Given the description of an element on the screen output the (x, y) to click on. 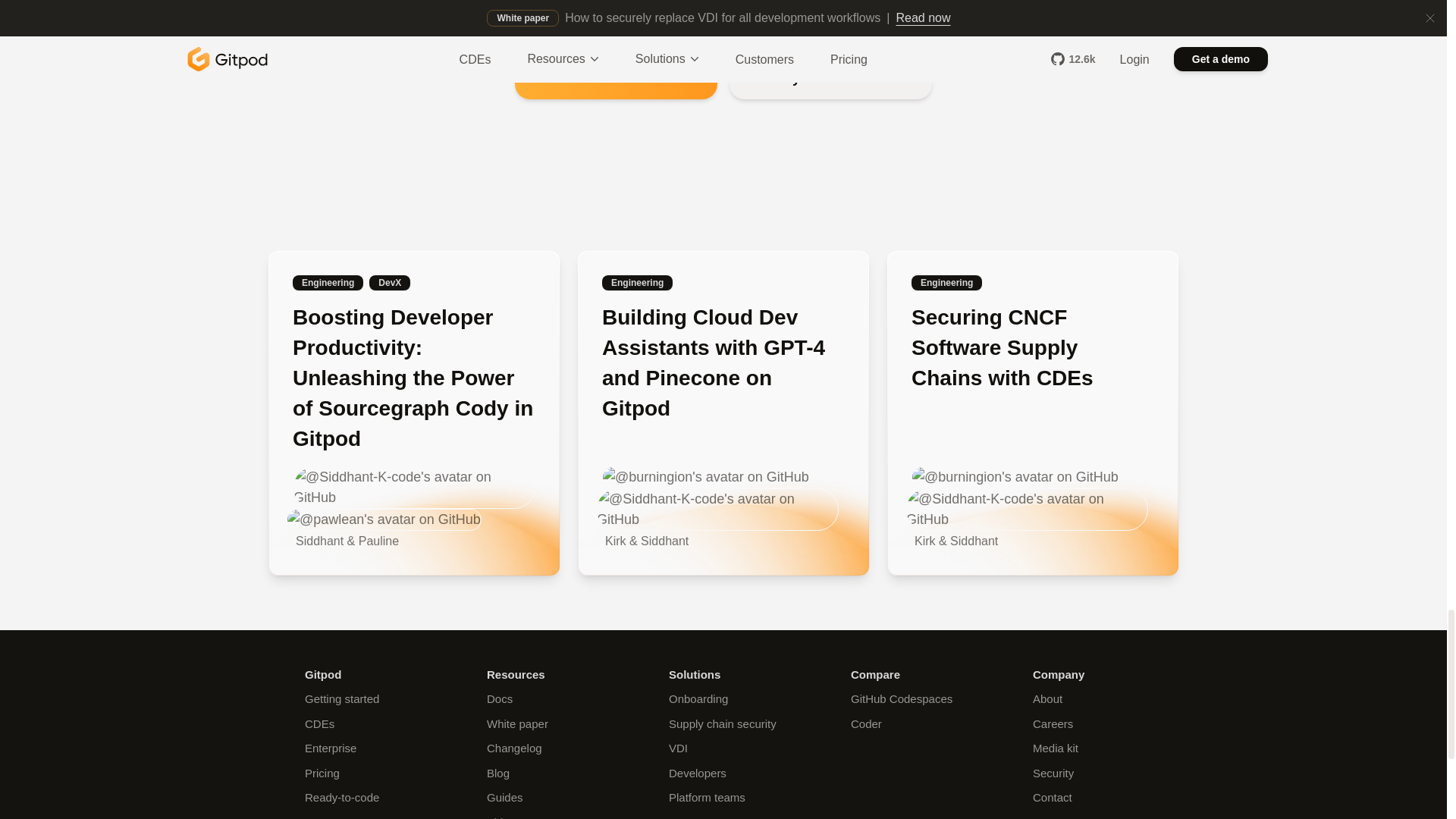
Enterprise (330, 748)
Try now for free (830, 78)
Getting started (341, 698)
CDEs (319, 723)
Contact sales (616, 78)
